Given the description of an element on the screen output the (x, y) to click on. 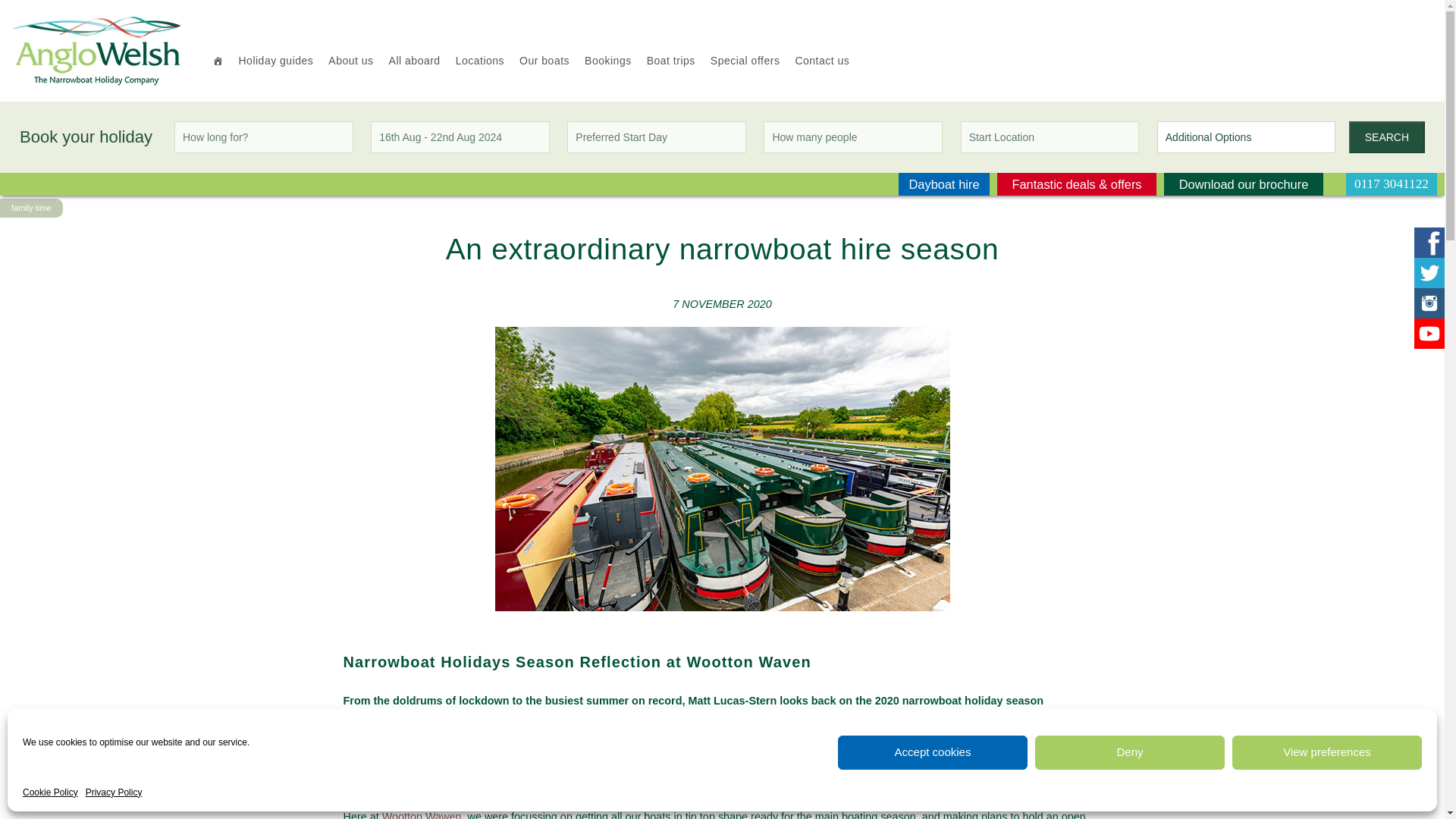
Deny (1129, 752)
Holiday guides (275, 60)
family time (31, 207)
Cookie Policy (50, 792)
Accept cookies (932, 752)
View preferences (1326, 752)
Privacy Policy (113, 792)
About us (350, 60)
SEARCH (1387, 137)
Locations (480, 60)
